Given the description of an element on the screen output the (x, y) to click on. 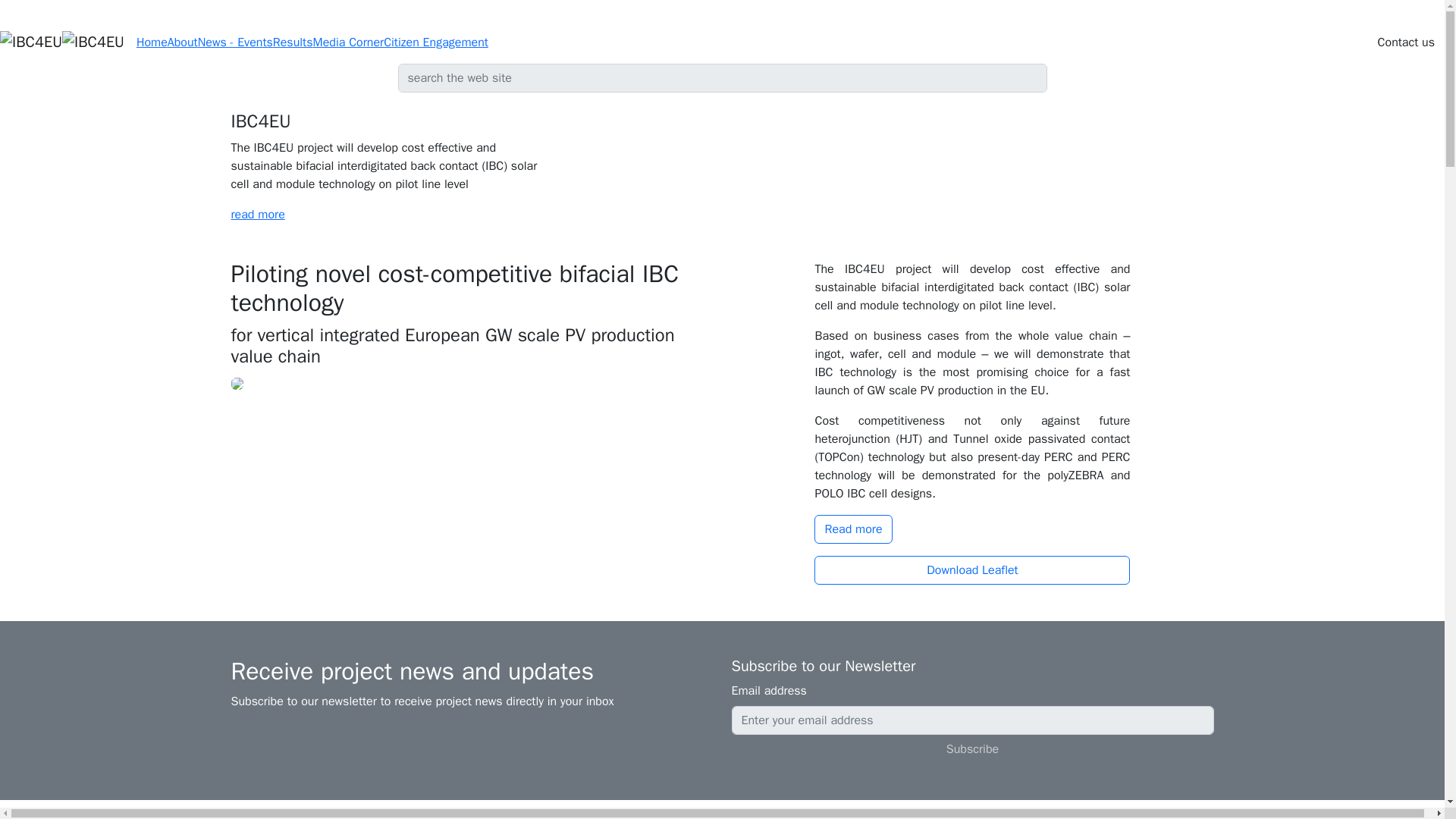
Subscribe (971, 748)
Home (151, 42)
Download Leaflet (971, 570)
Media Corner (348, 42)
Results (293, 42)
read more (256, 214)
Latest news (722, 809)
Contact us (1406, 41)
Citizen Engagement (435, 42)
Read more (852, 529)
About (182, 42)
News - Events (235, 42)
